Given the description of an element on the screen output the (x, y) to click on. 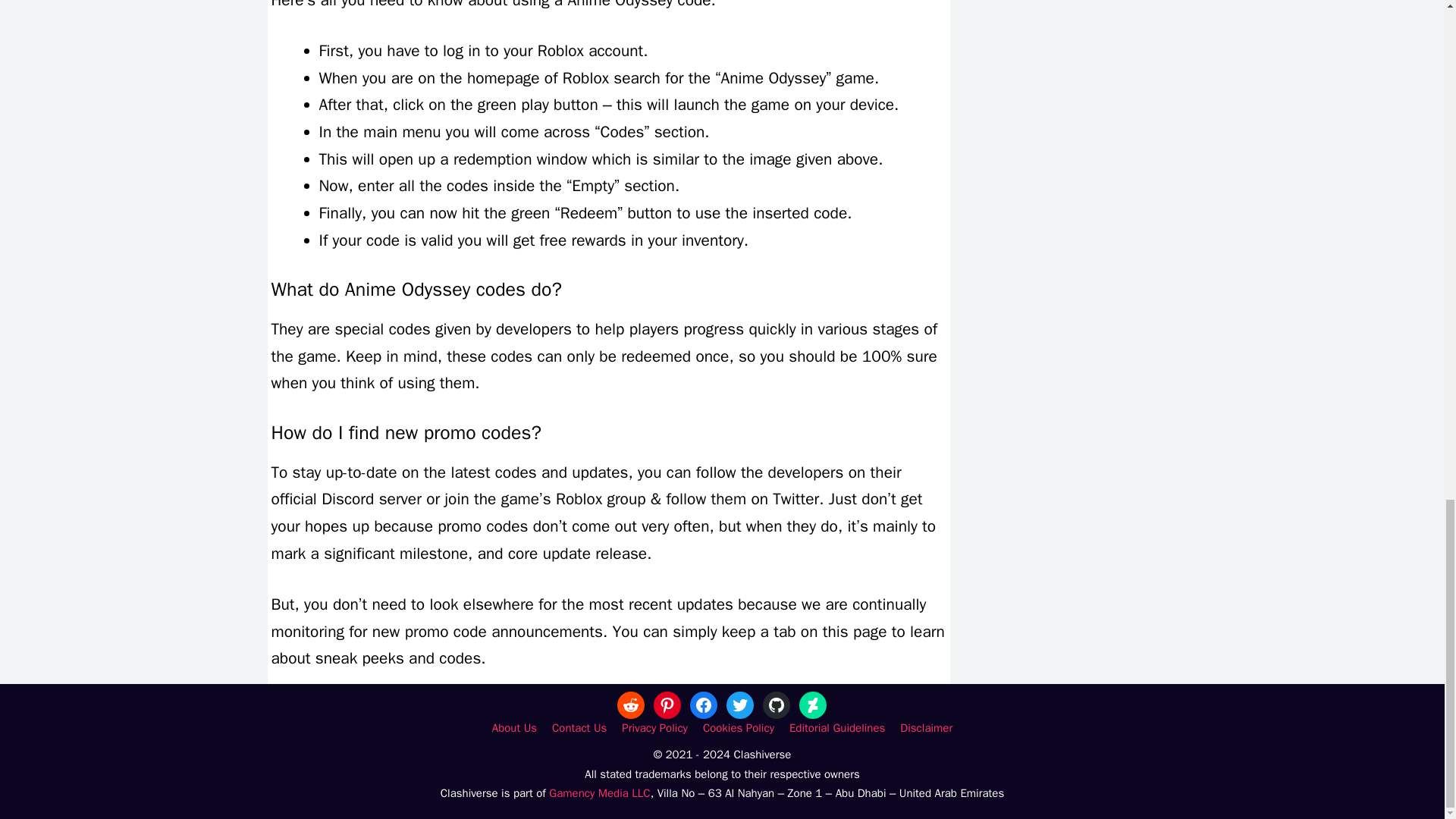
Facebook (703, 705)
DeviantArt (813, 705)
Cookies Policy (738, 727)
Contact Us (579, 727)
Pinterest (667, 705)
GitHub (776, 705)
About Us (514, 727)
Privacy Policy (654, 727)
Disclaimer (925, 727)
Editorial Guidelines (837, 727)
Twitter (740, 705)
Gamency Media LLC (598, 793)
Reddit (631, 705)
